Given the description of an element on the screen output the (x, y) to click on. 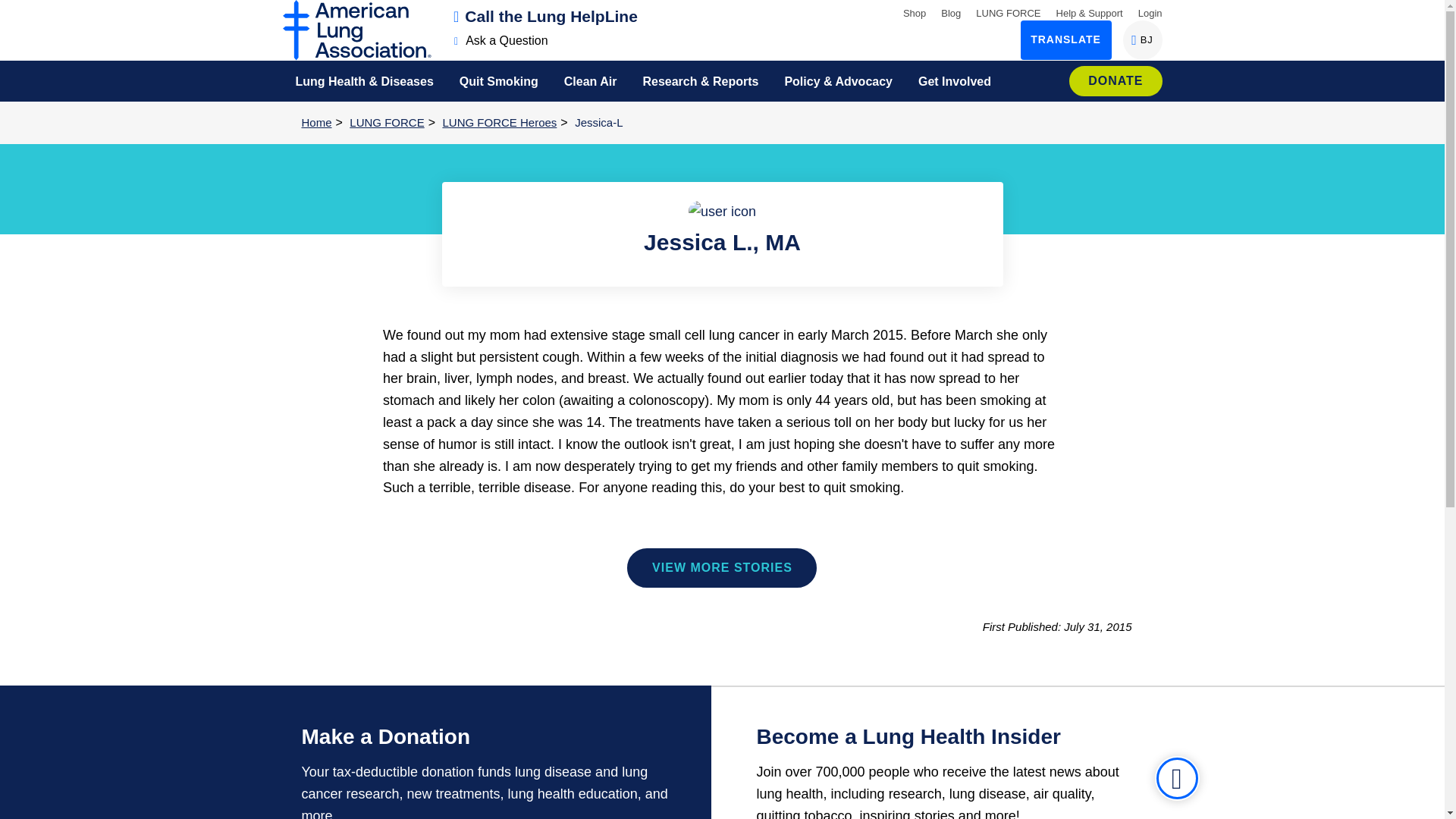
Shop (914, 13)
Call the Lung HelpLine (545, 16)
SKIP TO MAIN CONTENT (18, 10)
Blog (950, 13)
LUNG FORCE (1008, 13)
Ask a Question (501, 40)
Login (1149, 13)
TRANSLATE (1066, 39)
